Given the description of an element on the screen output the (x, y) to click on. 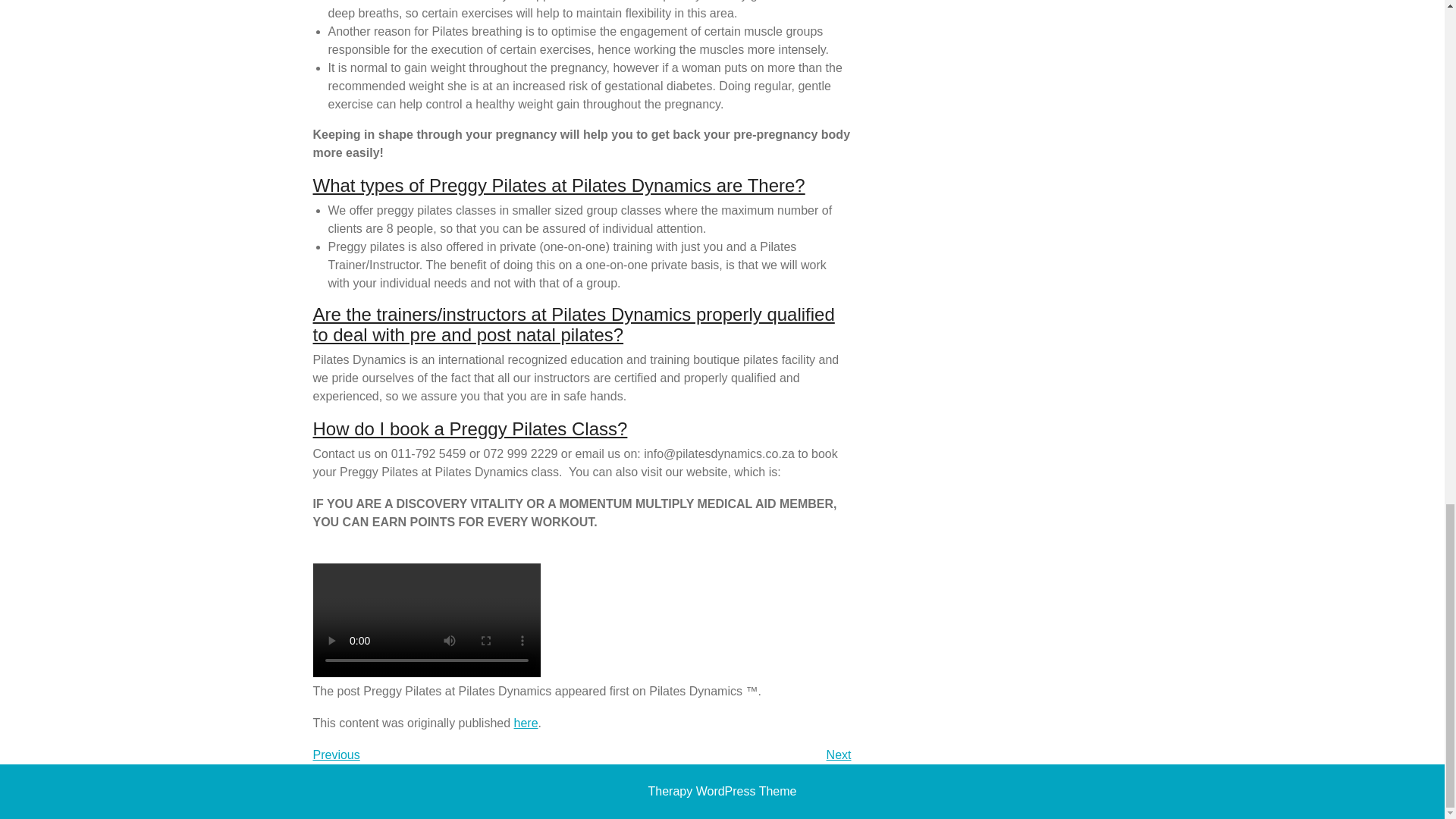
Therapy WordPress Theme (336, 754)
here (721, 790)
